Given the description of an element on the screen output the (x, y) to click on. 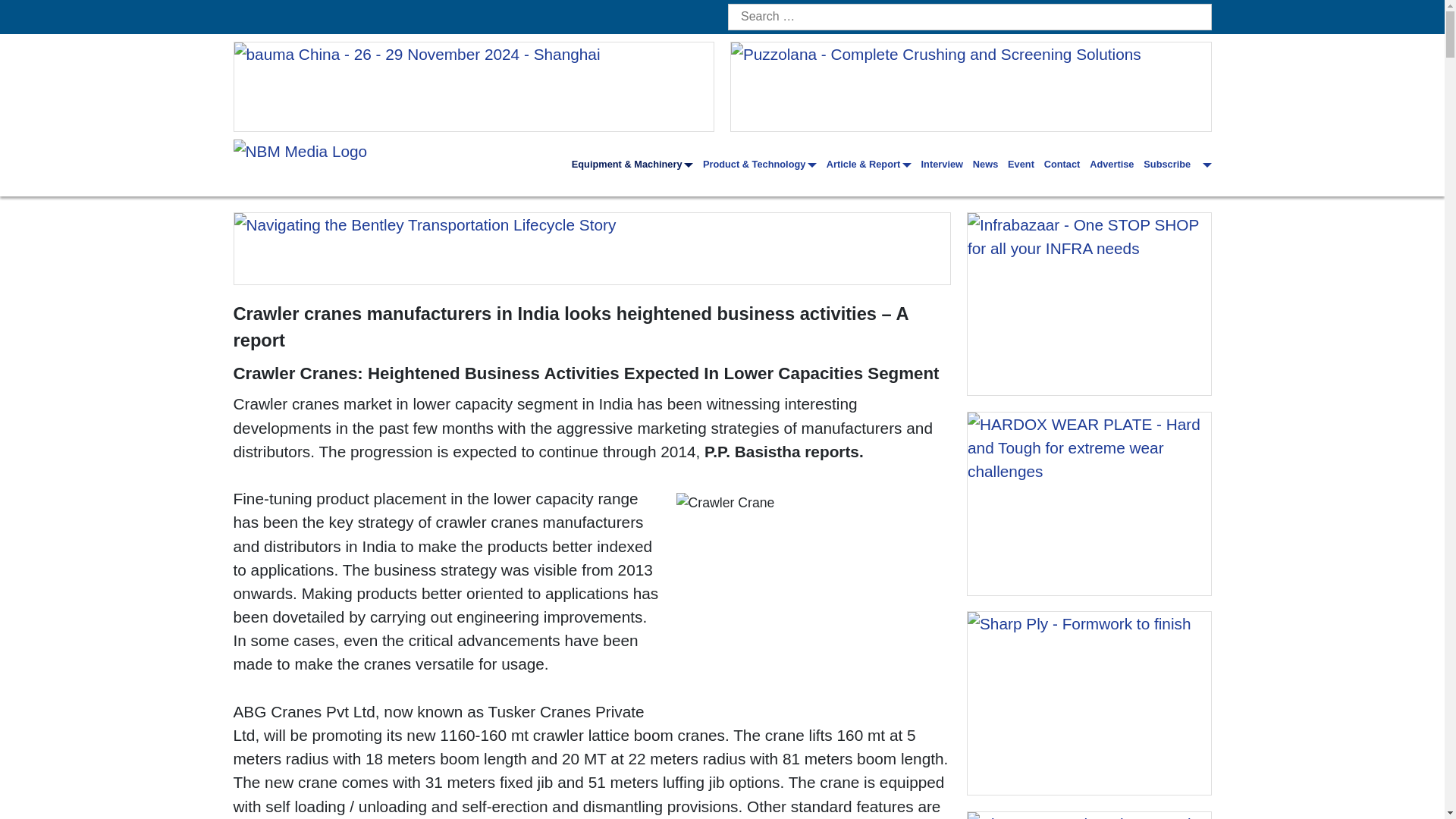
bauma China - 26 - 29 November 2024 - Shanghai (472, 86)
Puzzolana - Complete Crushing and Screening Solutions (970, 86)
Crawler Crane (814, 596)
Navigating the Bentley Transportation Lifecycle Story (591, 248)
